Given the description of an element on the screen output the (x, y) to click on. 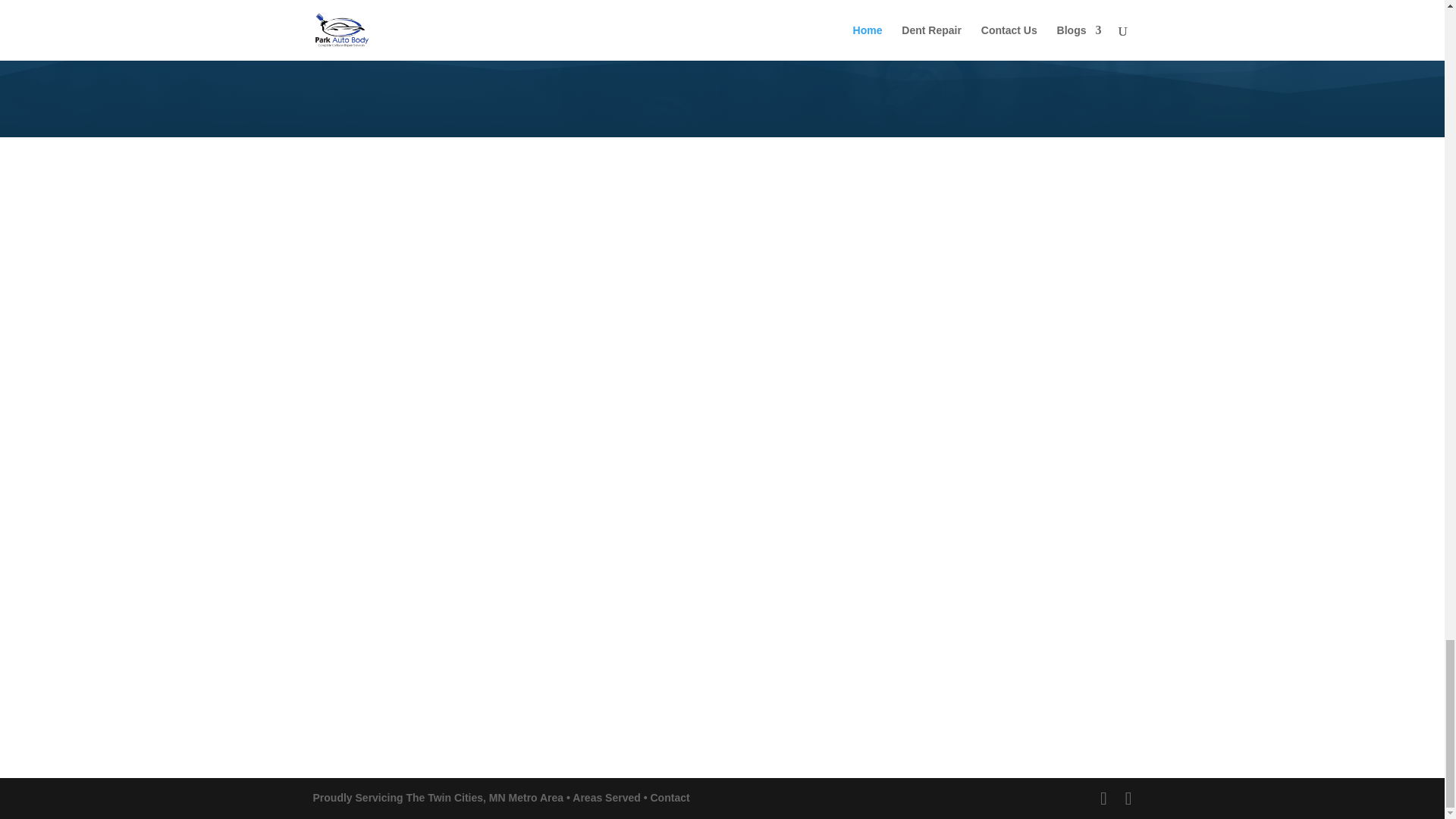
Contact (670, 797)
Areas Served (606, 797)
Contact (670, 797)
Areas Served (606, 797)
Twin Cities, MN (466, 797)
